Given the description of an element on the screen output the (x, y) to click on. 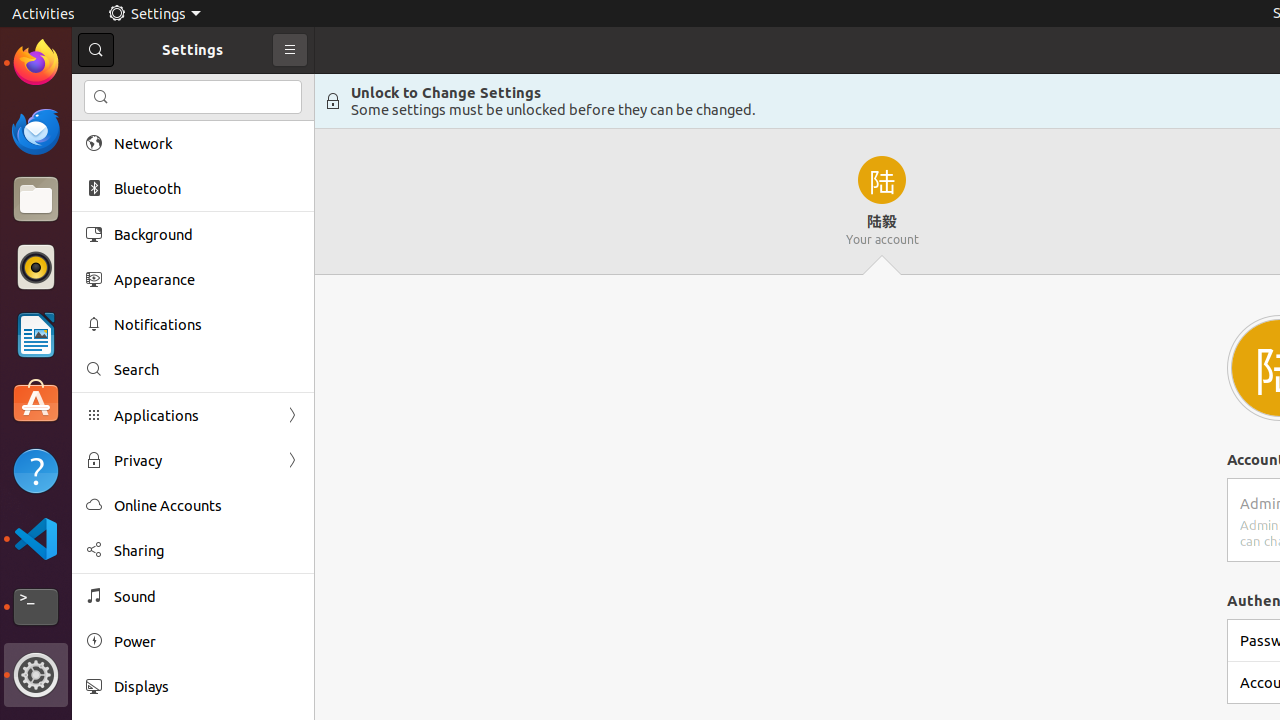
Power Element type: label (207, 641)
Primary Menu Element type: toggle-button (290, 50)
Some settings must be unlocked before they can be changed. Element type: label (553, 109)
Terminal Element type: push-button (36, 607)
Notifications Element type: label (207, 324)
